Given the description of an element on the screen output the (x, y) to click on. 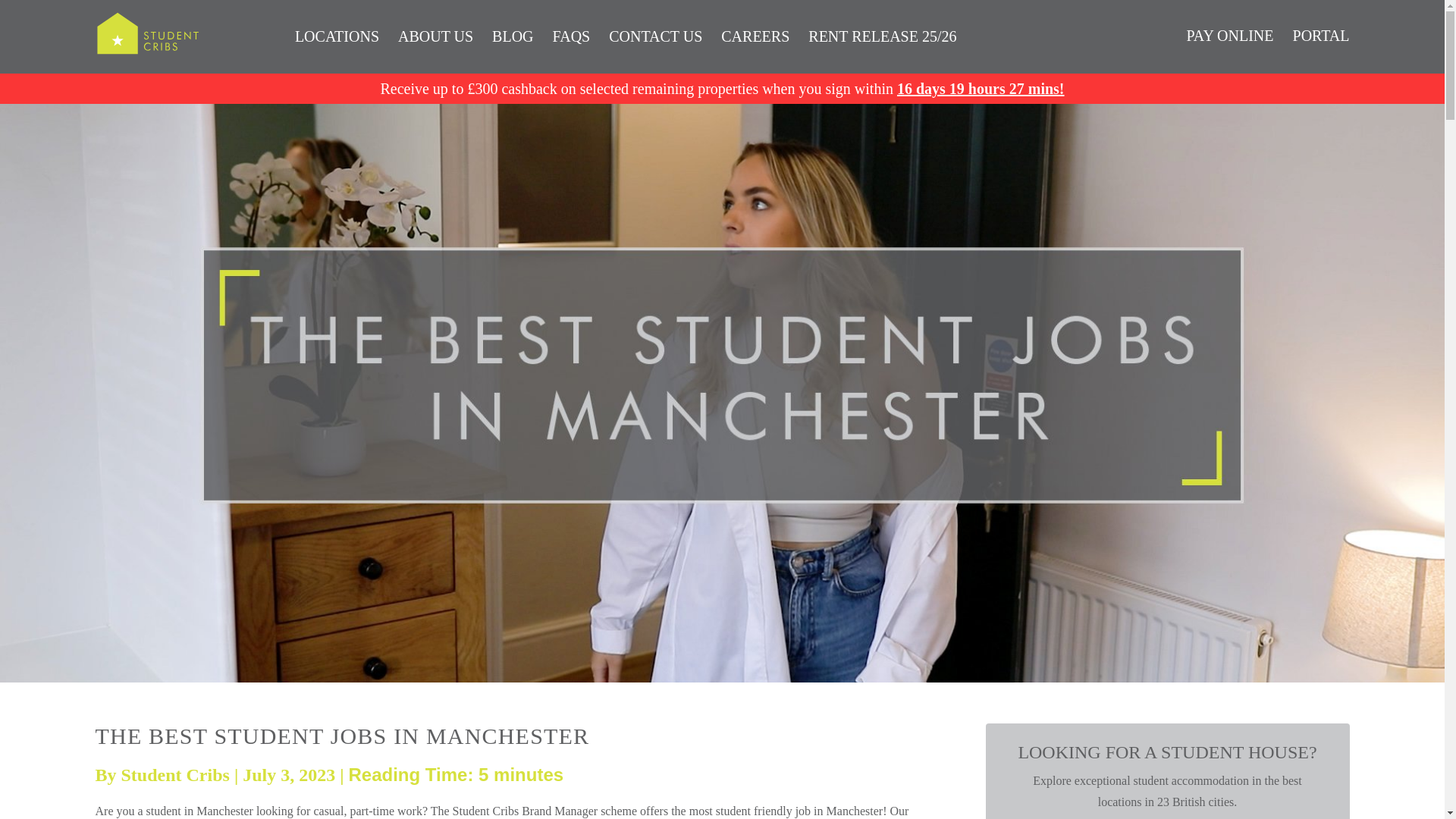
PORTAL (1320, 35)
LOCATIONS (336, 34)
CAREERS (754, 34)
PAY ONLINE (1229, 35)
CONTACT US (654, 34)
ABOUT US (435, 34)
